Given the description of an element on the screen output the (x, y) to click on. 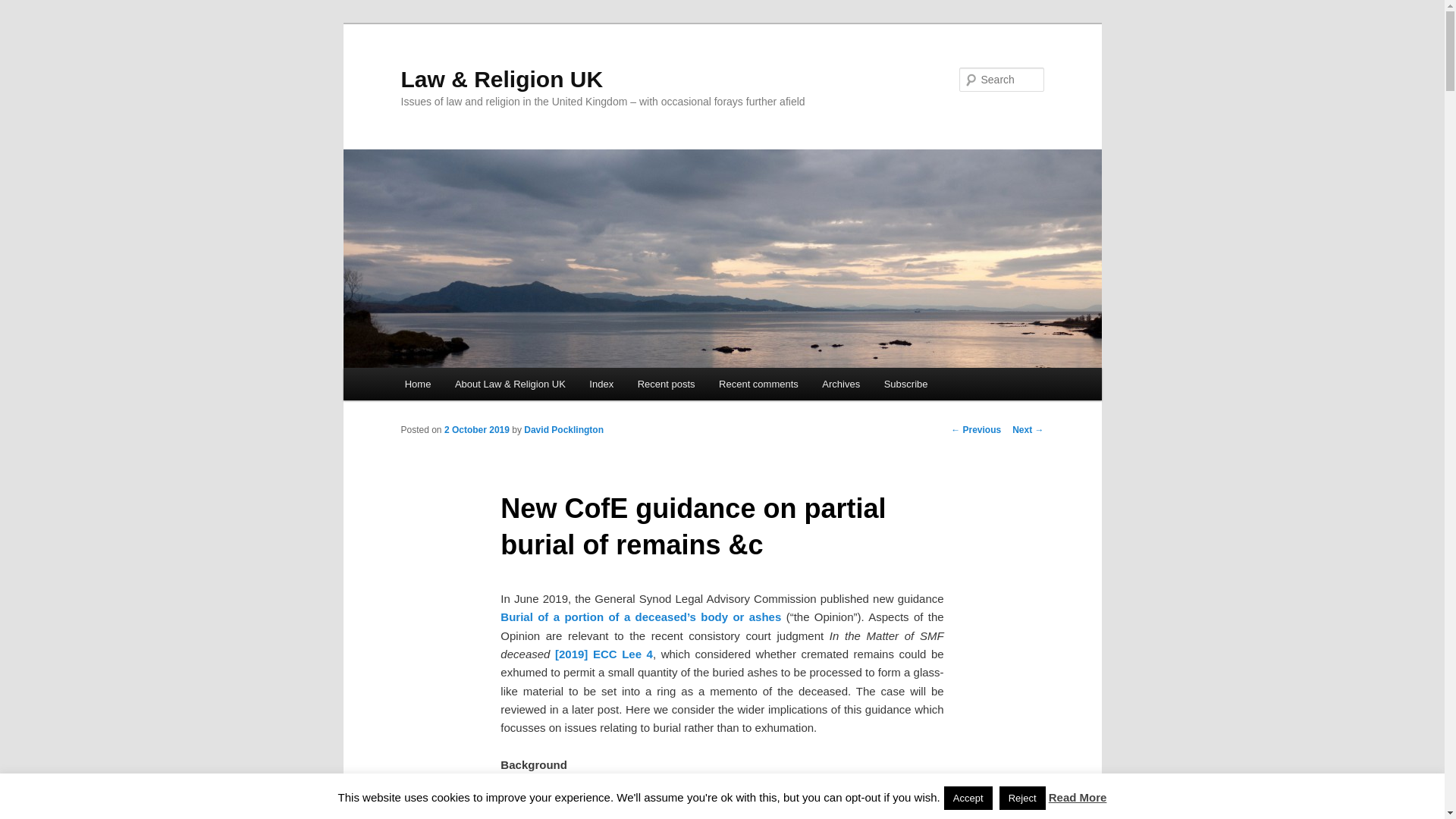
2 October 2019 (476, 429)
Index (602, 383)
Archives (841, 383)
David Pocklington (564, 429)
Recent comments (757, 383)
Recent posts (666, 383)
Subscribe (905, 383)
Home (417, 383)
Search (24, 8)
